Given the description of an element on the screen output the (x, y) to click on. 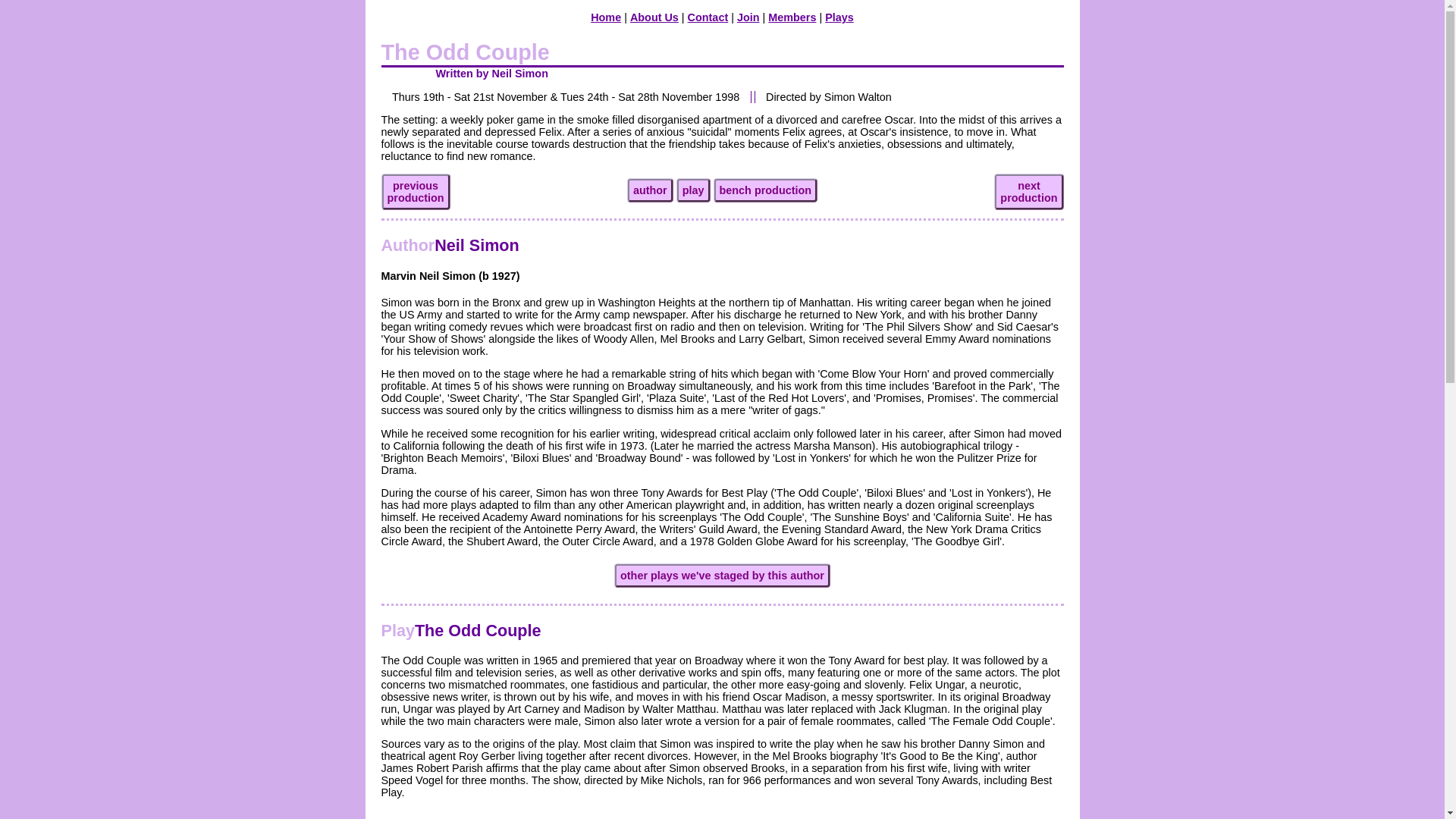
Plays (839, 17)
Join (414, 191)
bench production (748, 17)
Author (765, 190)
About Us (406, 244)
Contact (654, 17)
PlayThe Odd Couple (708, 17)
play (460, 629)
top of page (693, 190)
author (721, 818)
Home (649, 190)
Members (606, 17)
other plays we've staged by this author (791, 17)
